Given the description of an element on the screen output the (x, y) to click on. 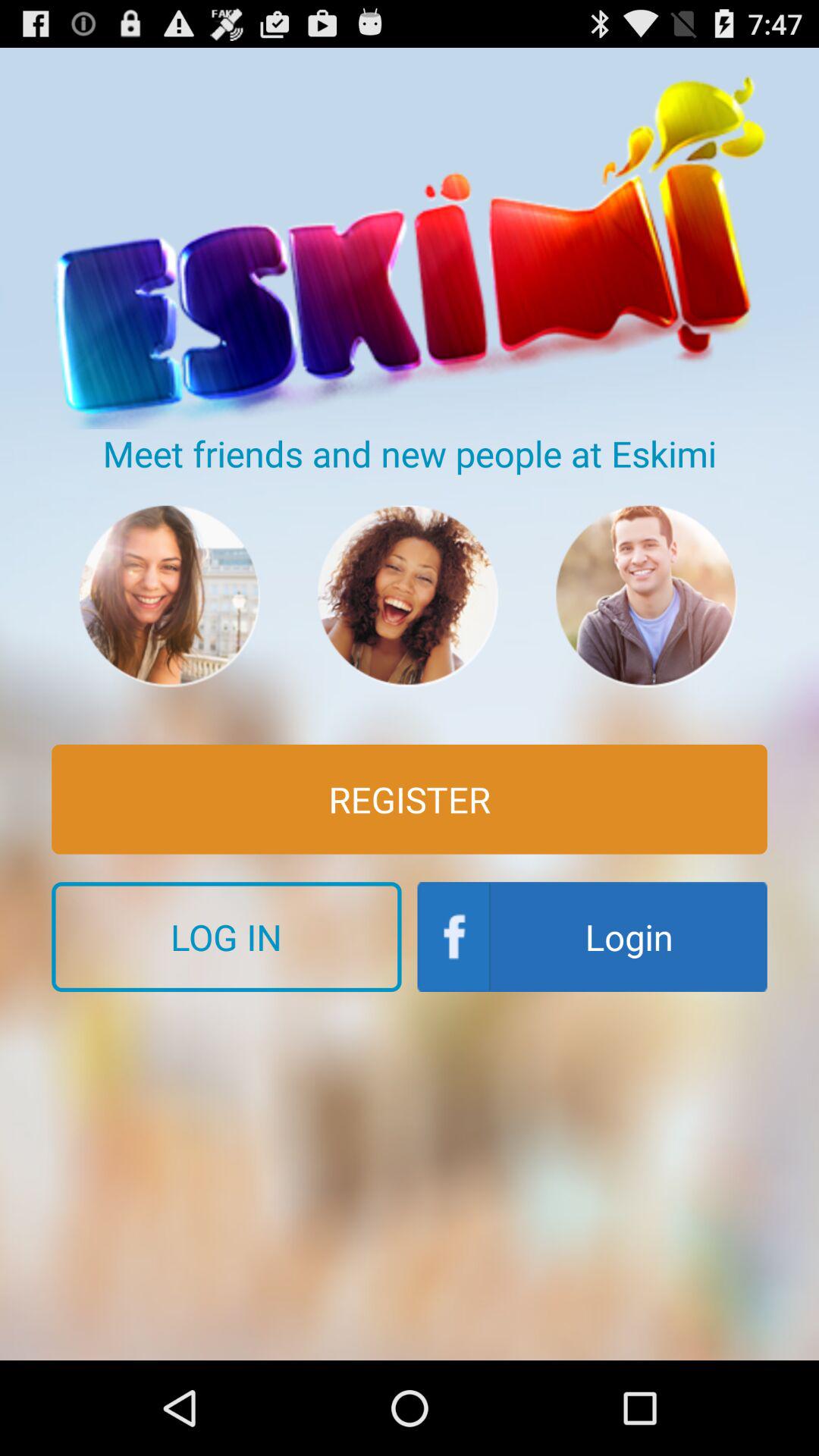
turn on the icon next to the log in button (592, 936)
